Given the description of an element on the screen output the (x, y) to click on. 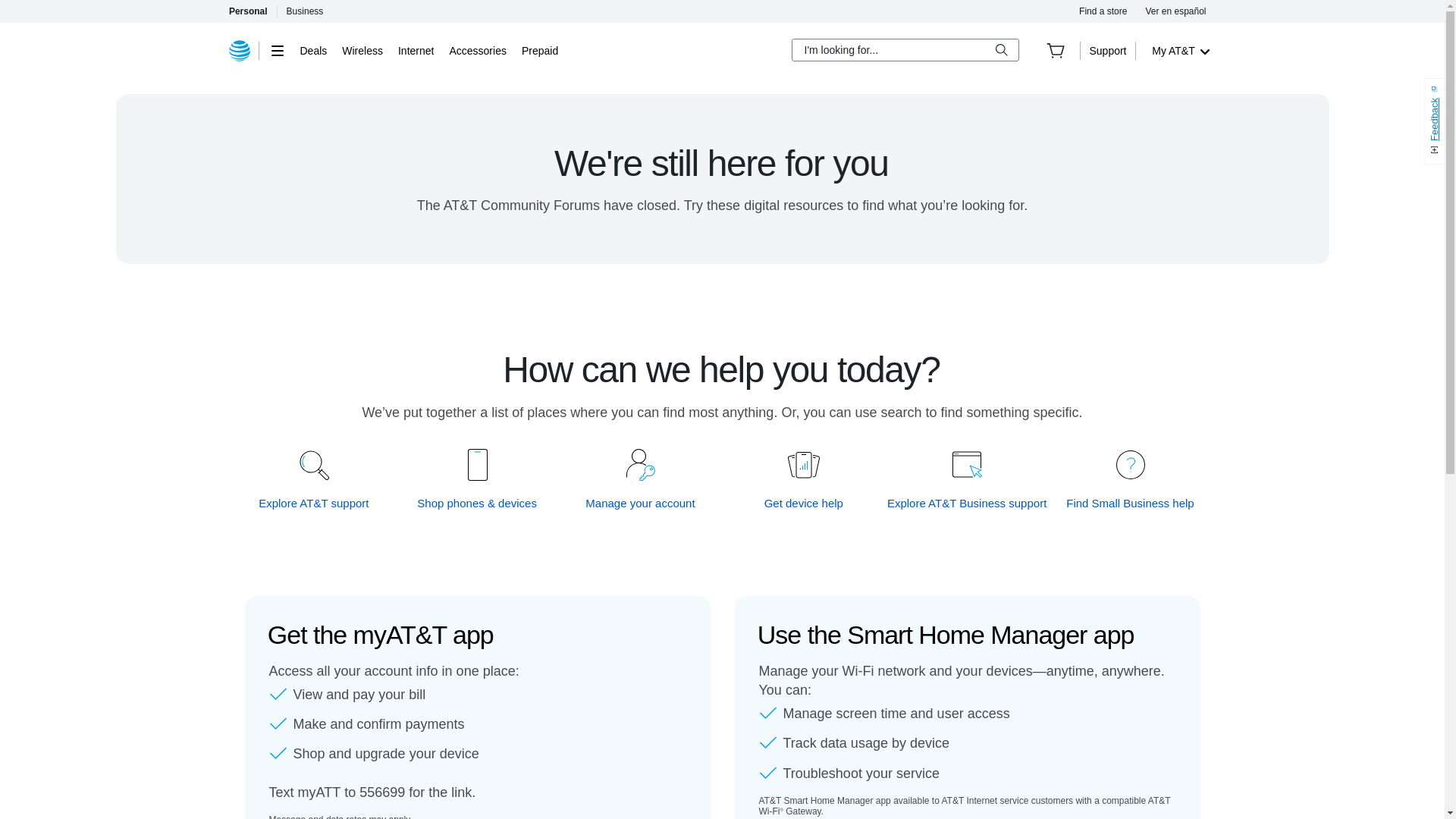
Internet (415, 50)
Accessories (476, 50)
Wireless (362, 50)
Support (1107, 50)
Get device help (803, 503)
Business (305, 10)
Prepaid (539, 50)
Search (1000, 50)
Find a store (1102, 10)
Support (1107, 50)
Manage your account (640, 503)
Personal (247, 10)
Find Small Business help (1130, 503)
